Given the description of an element on the screen output the (x, y) to click on. 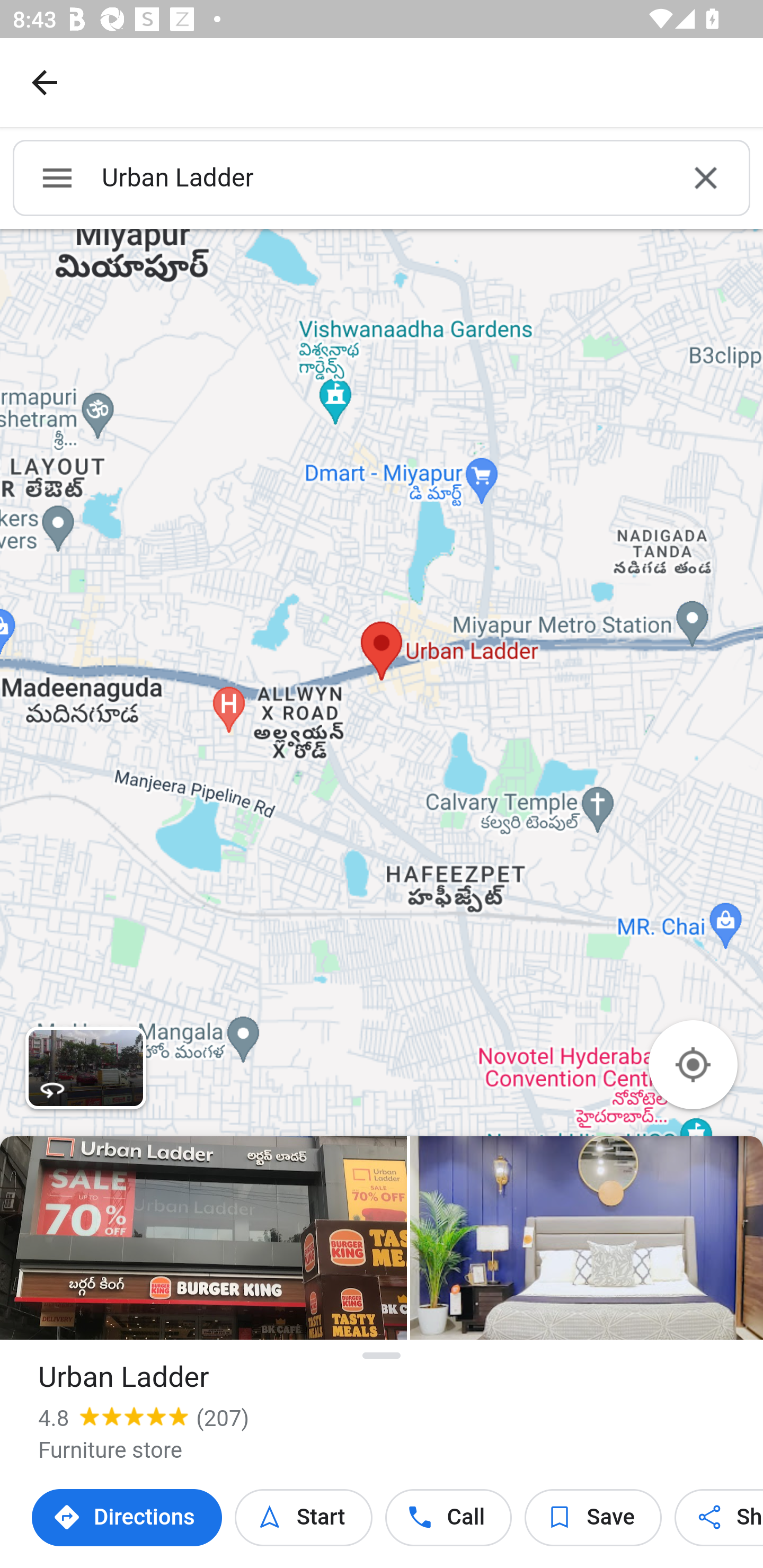
Navigate up (44, 82)
Photo 1 of 10 (203, 1237)
Photo 2 of 10 (586, 1237)
Show details (381, 1355)
Directions to Urban Ladder (127, 1517)
Start (303, 1517)
Call Urban Ladder  Call (448, 1517)
Save Urban Ladder in your lists (593, 1517)
